Given the description of an element on the screen output the (x, y) to click on. 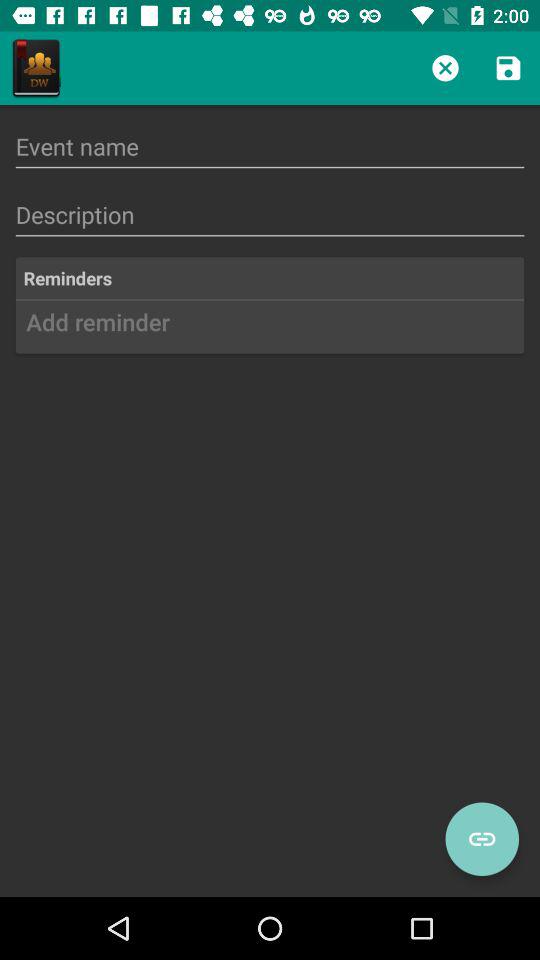
swipe until the add reminder item (269, 329)
